Given the description of an element on the screen output the (x, y) to click on. 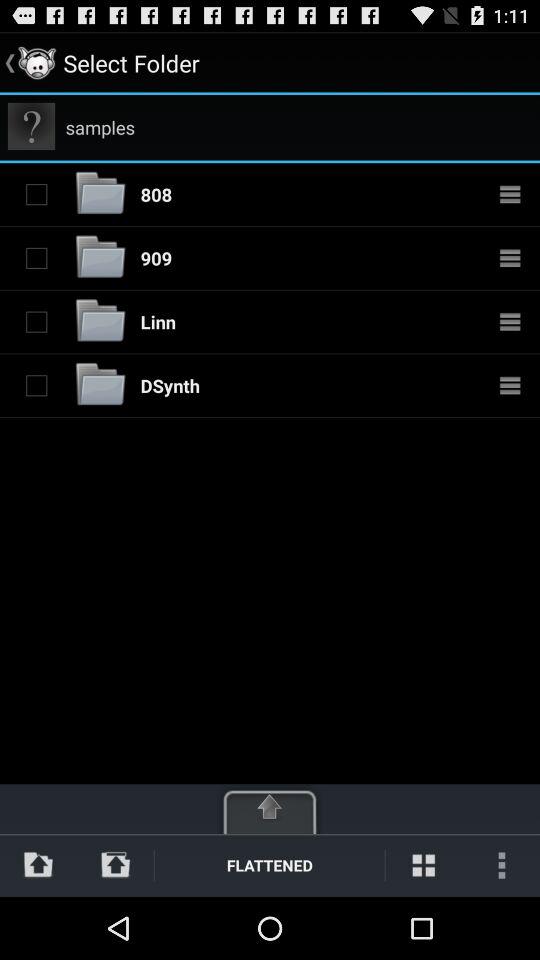
check to select folder (36, 321)
